Given the description of an element on the screen output the (x, y) to click on. 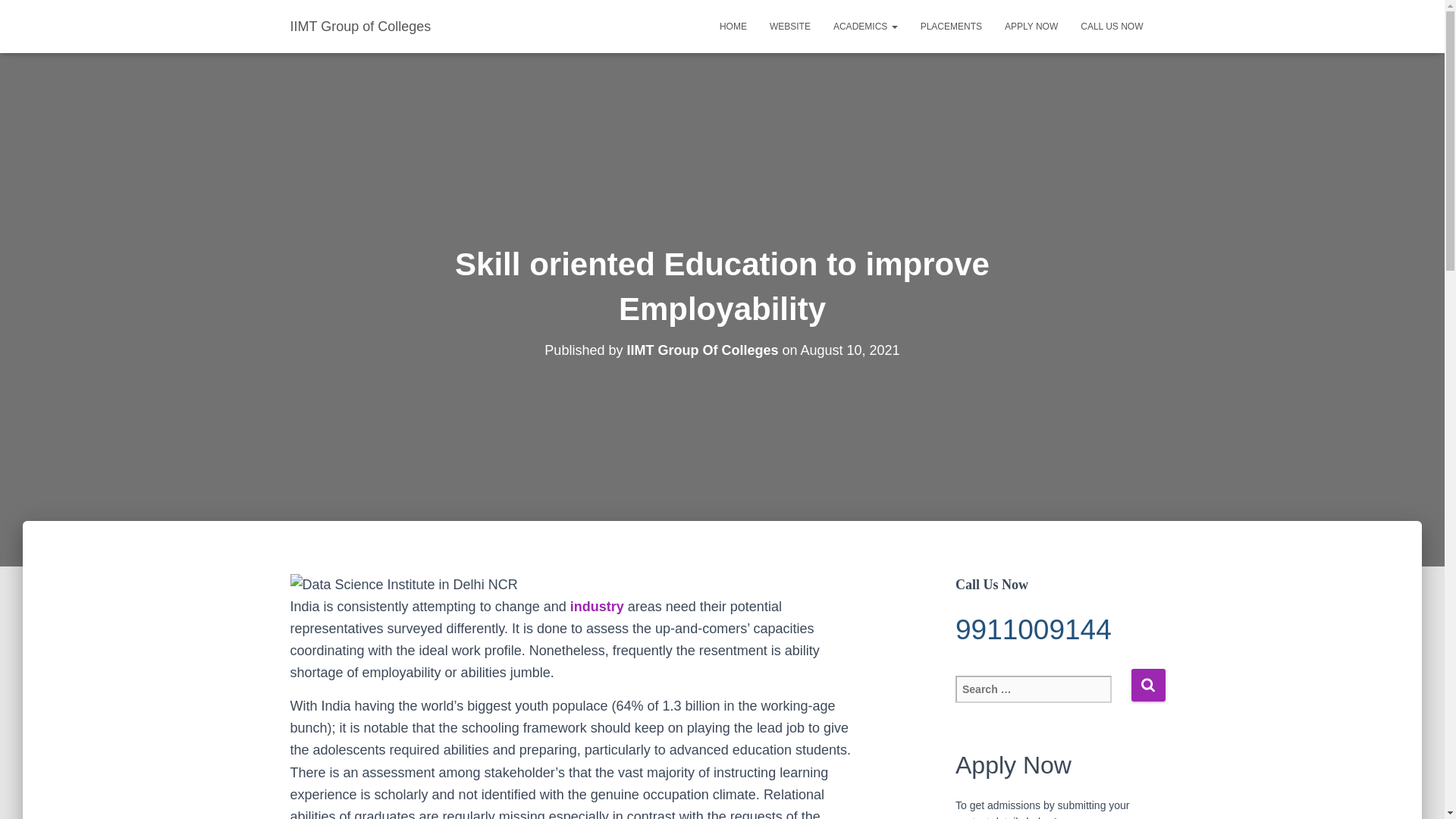
Search (1148, 685)
IIMT Group of Colleges (360, 26)
Apply Now (1030, 26)
HOME (732, 26)
WEBSITE (790, 26)
APPLY NOW (1030, 26)
IIMT Group Of Colleges (701, 350)
Home (732, 26)
PLACEMENTS (950, 26)
Placements (950, 26)
ACADEMICS (865, 26)
Search (1148, 685)
industry (597, 606)
9911009144 (1054, 629)
Website (790, 26)
